Given the description of an element on the screen output the (x, y) to click on. 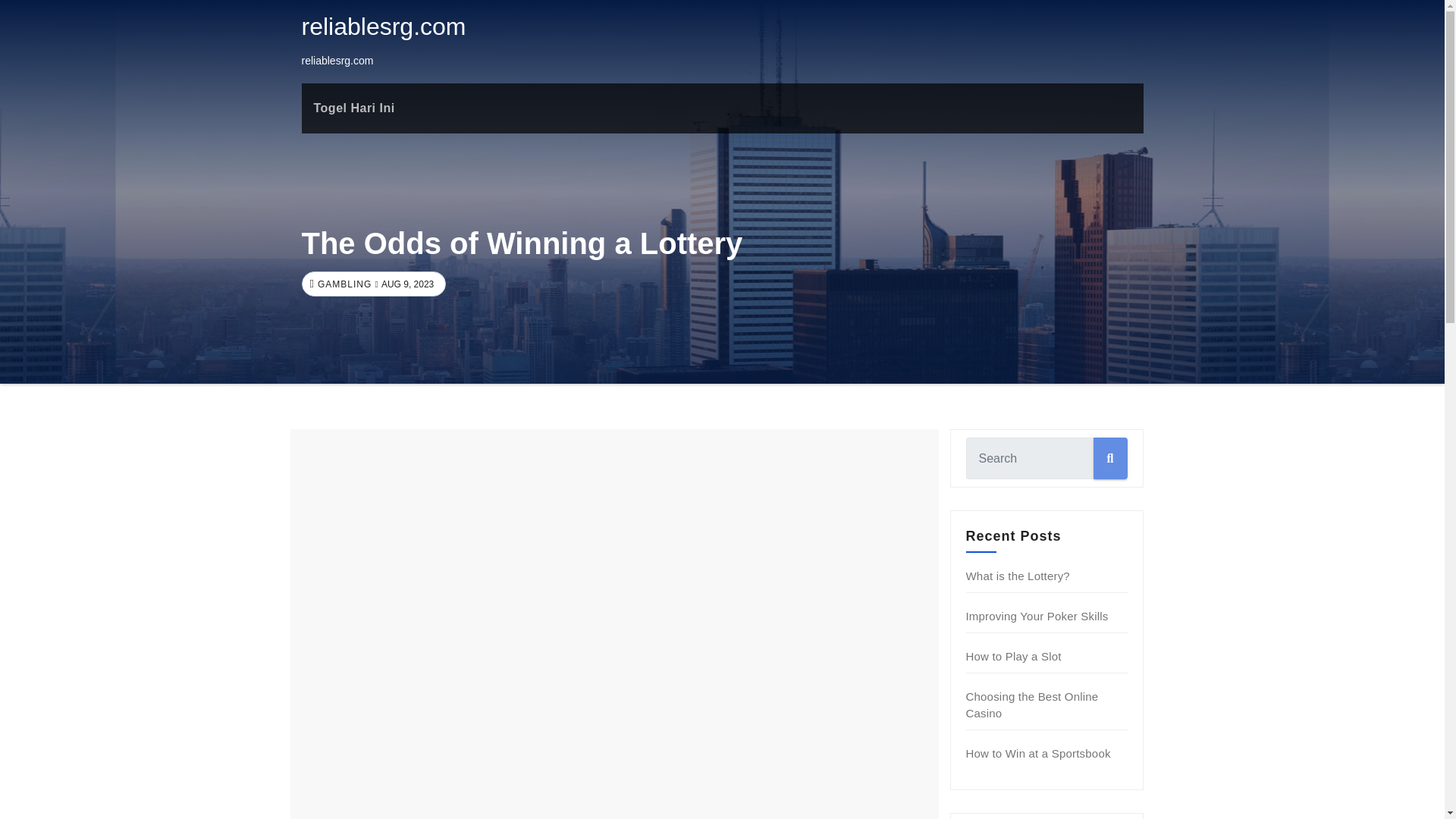
Improving Your Poker Skills (1037, 615)
How to Win at a Sportsbook (1038, 753)
reliablesrg.com (383, 26)
Choosing the Best Online Casino (1032, 704)
Togel Hari Ini (354, 108)
Togel Hari Ini (354, 108)
GAMBLING (342, 284)
How to Play a Slot (1013, 656)
What is the Lottery? (1018, 575)
